Given the description of an element on the screen output the (x, y) to click on. 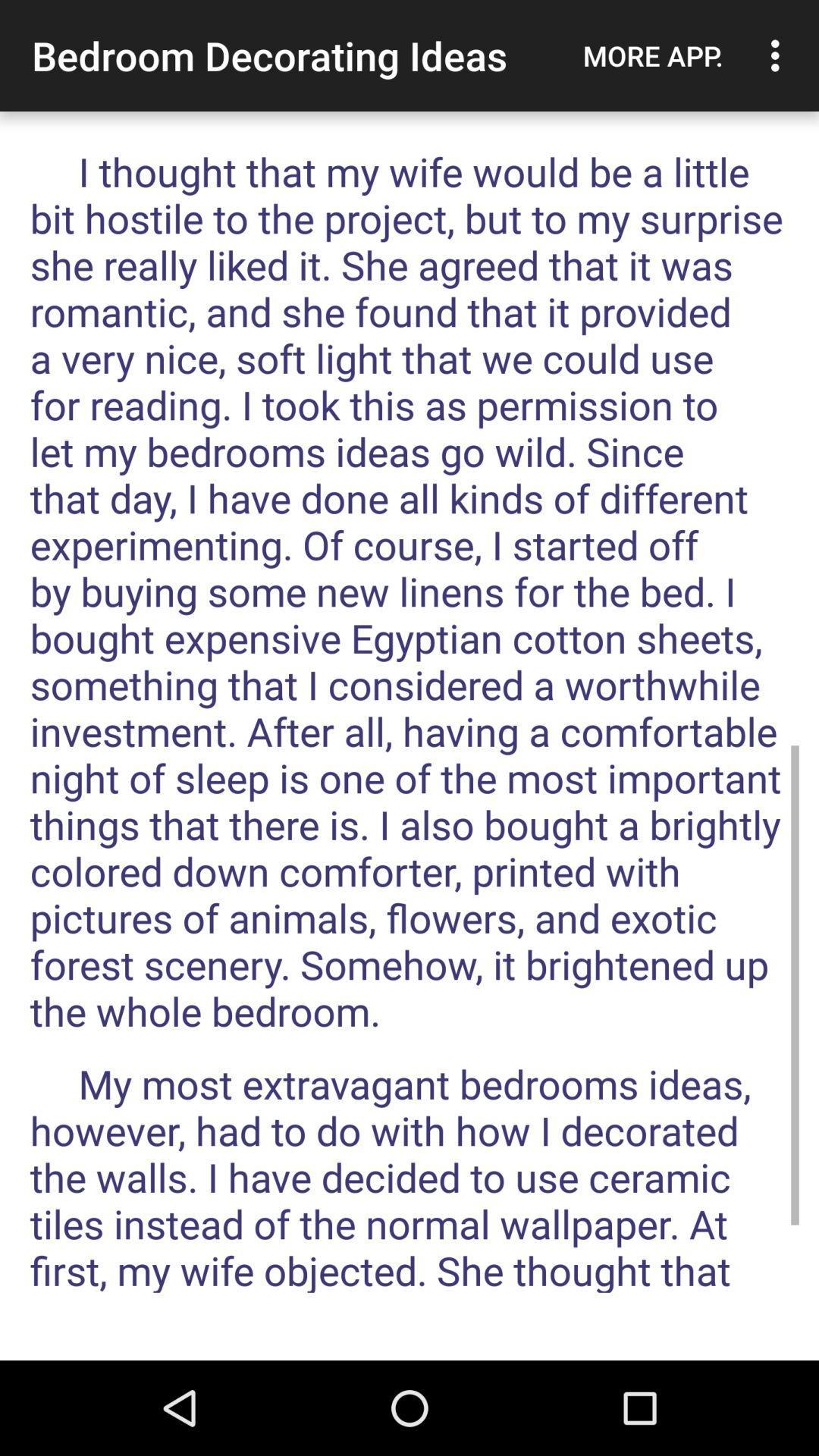
select more app. item (653, 55)
